Given the description of an element on the screen output the (x, y) to click on. 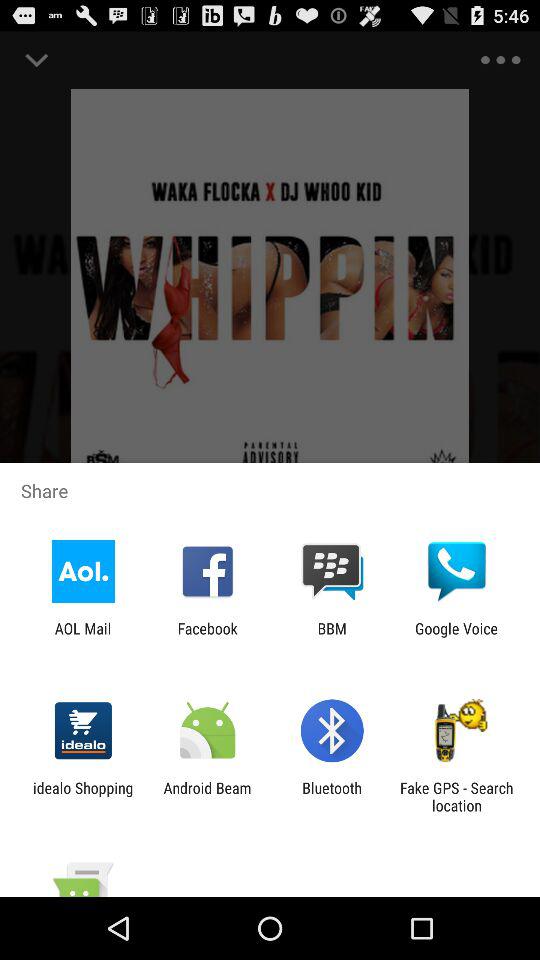
open the app to the left of the fake gps search item (331, 796)
